Given the description of an element on the screen output the (x, y) to click on. 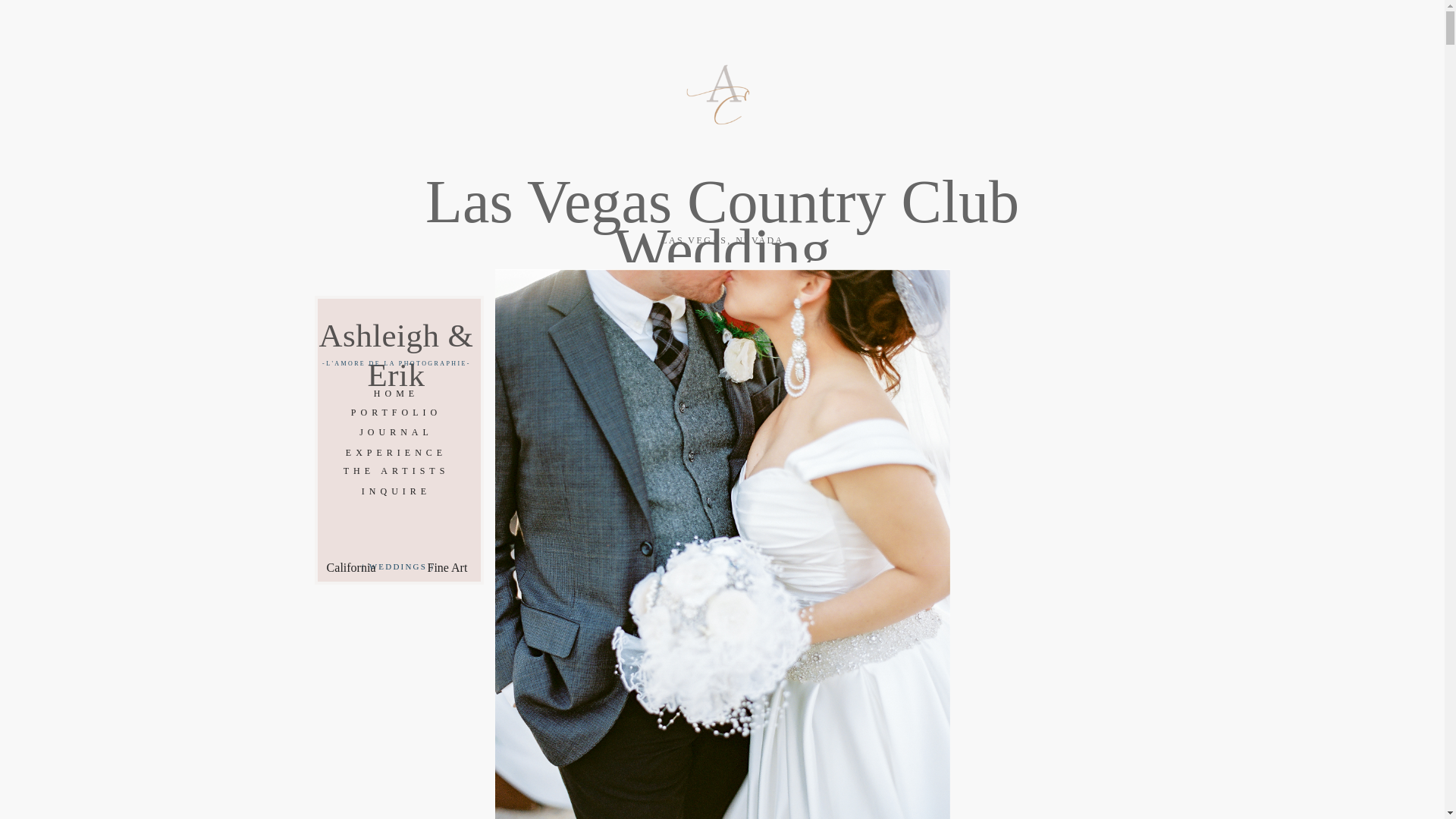
HOME (396, 392)
EXPERIENCE (396, 451)
JOURNAL (396, 430)
THE ARTISTS (396, 470)
INQUIRE (396, 490)
PORTFOLIO (396, 411)
